Given the description of an element on the screen output the (x, y) to click on. 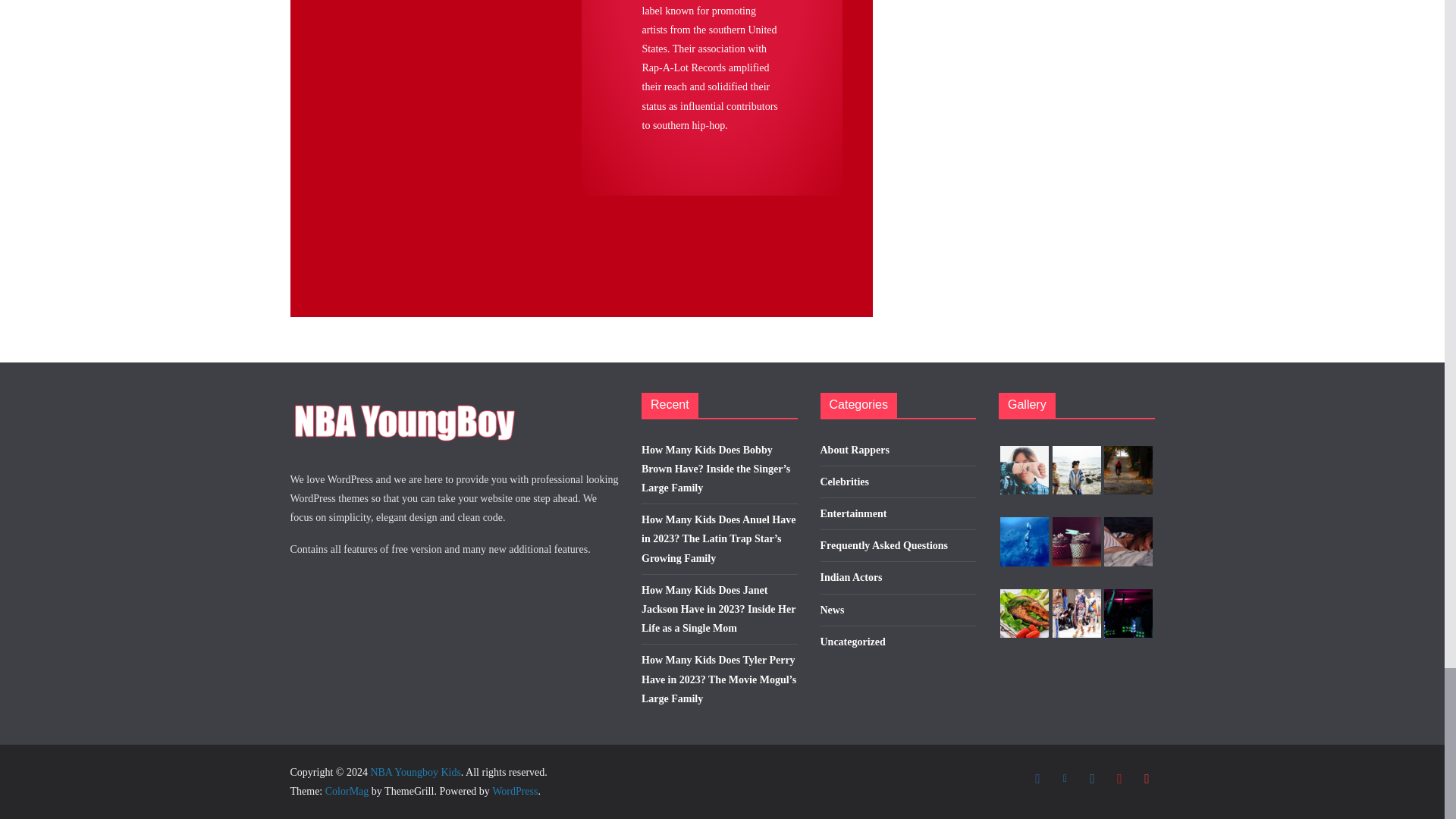
WordPress (514, 790)
ColorMag (346, 790)
NBA Youngboy Kids (414, 772)
